Given the description of an element on the screen output the (x, y) to click on. 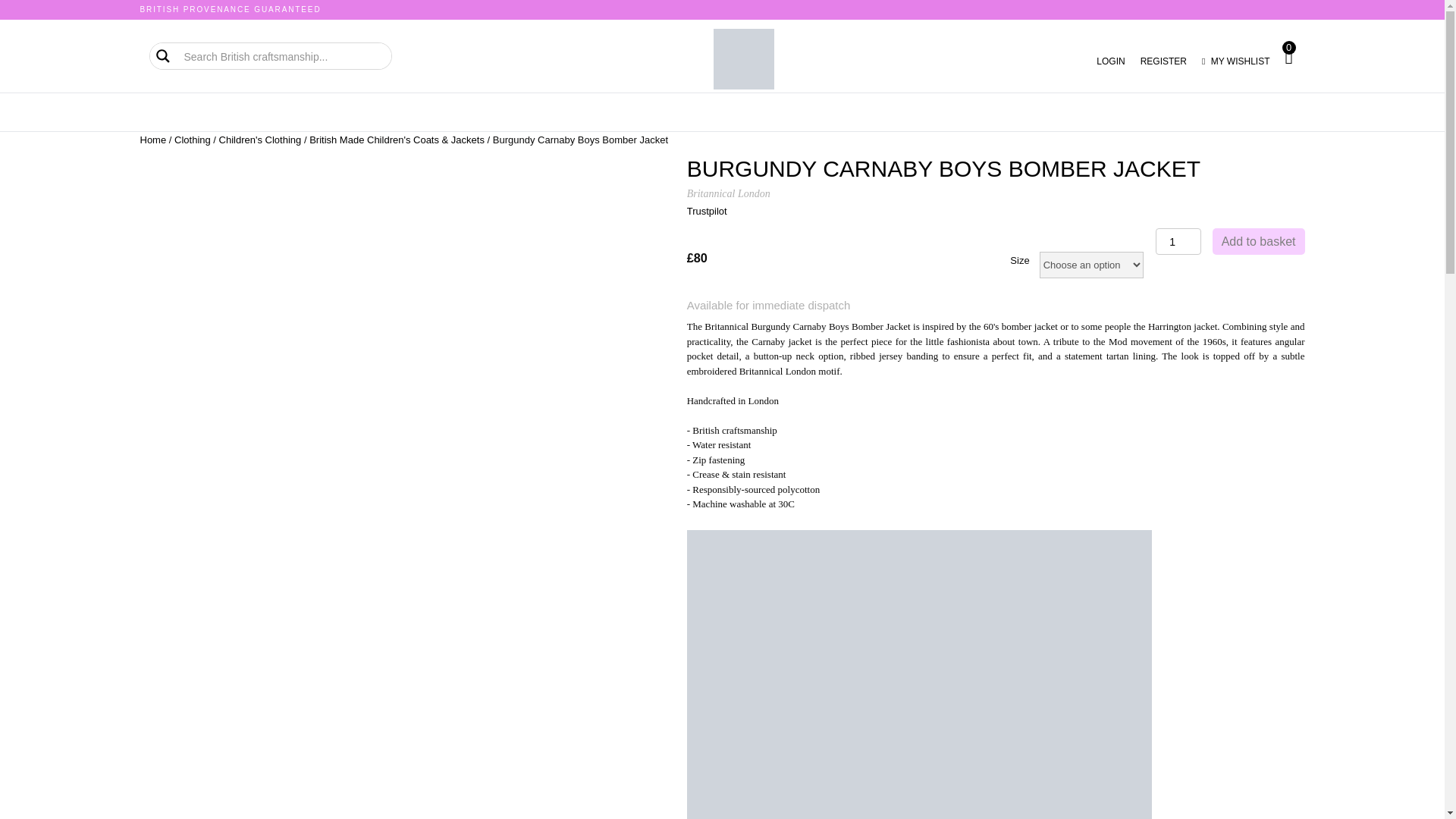
MY WISHLIST (1235, 61)
Clothing (192, 139)
Home (152, 139)
Britannical London (728, 193)
1 (1178, 241)
Add to basket (1258, 241)
REGISTER (1163, 61)
Trustpilot (706, 211)
Children's Clothing (260, 139)
LOGIN (1110, 61)
